Given the description of an element on the screen output the (x, y) to click on. 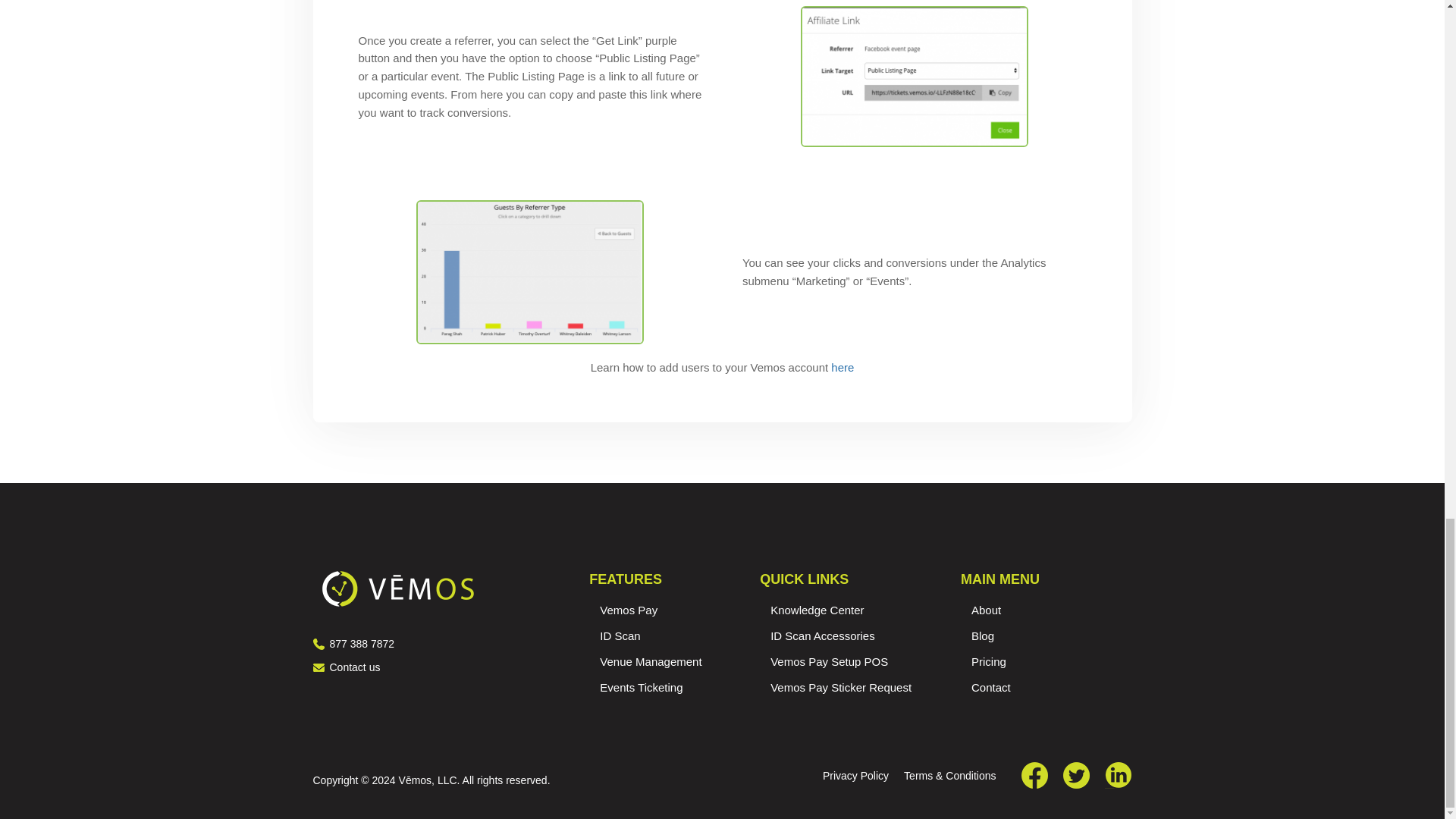
Vemos Facebook Profile (1035, 778)
footer-logo (397, 588)
Screen-Shot-2020-01-21-at-10.39.02-AM-300x189 (529, 271)
Vemos Twitter Profile (1075, 778)
Vemos LinkedIn Profile (1118, 778)
Screen-Shot-2020-01-21-at-10.38.20-AM-300x184 (913, 76)
